Given the description of an element on the screen output the (x, y) to click on. 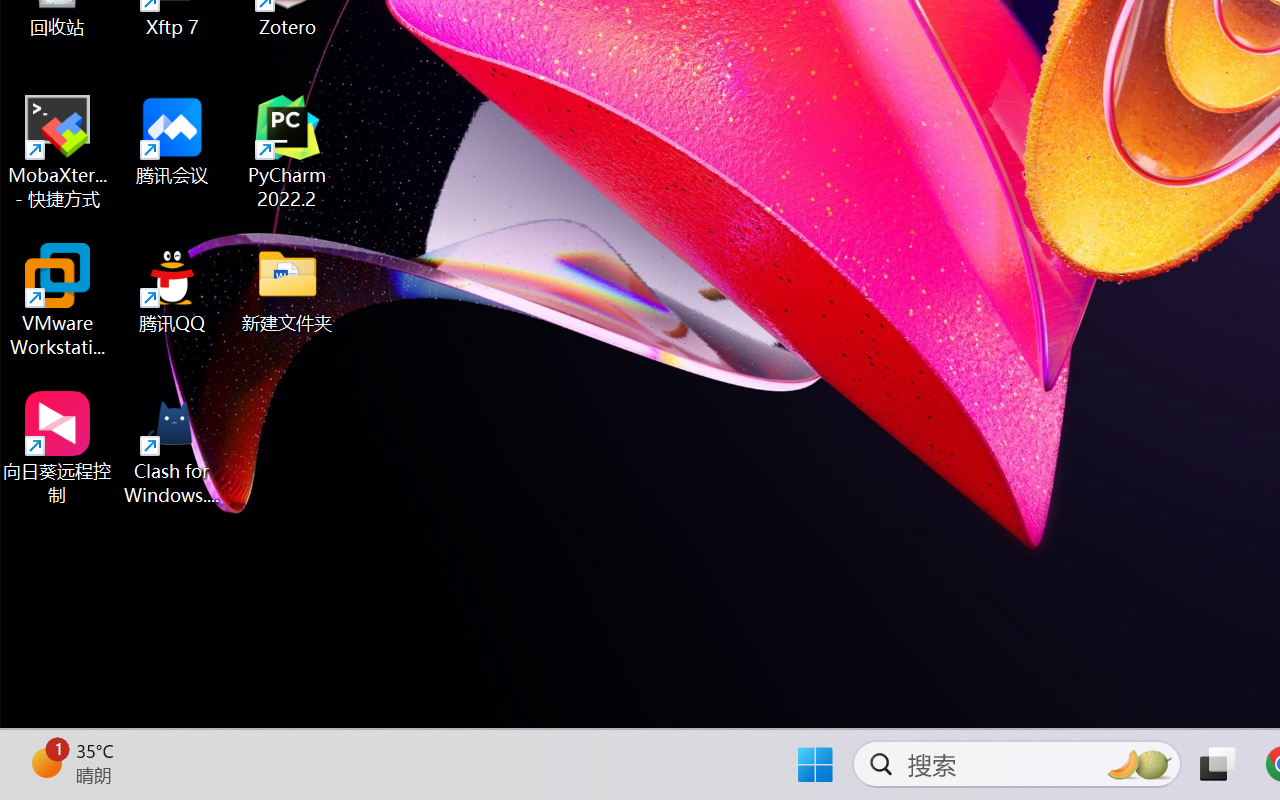
VMware Workstation Pro (57, 300)
